Given the description of an element on the screen output the (x, y) to click on. 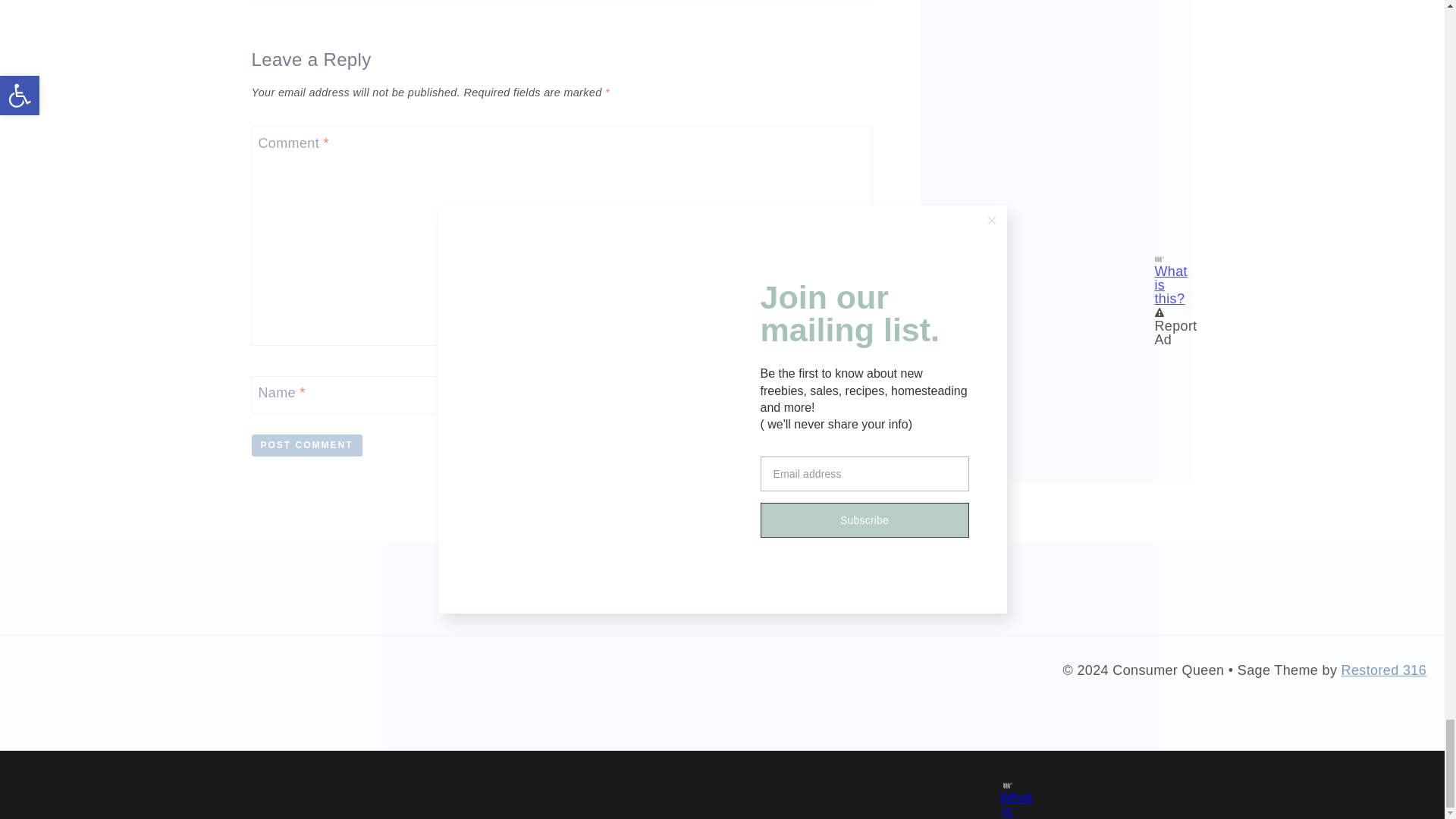
Post Comment (306, 445)
